Given the description of an element on the screen output the (x, y) to click on. 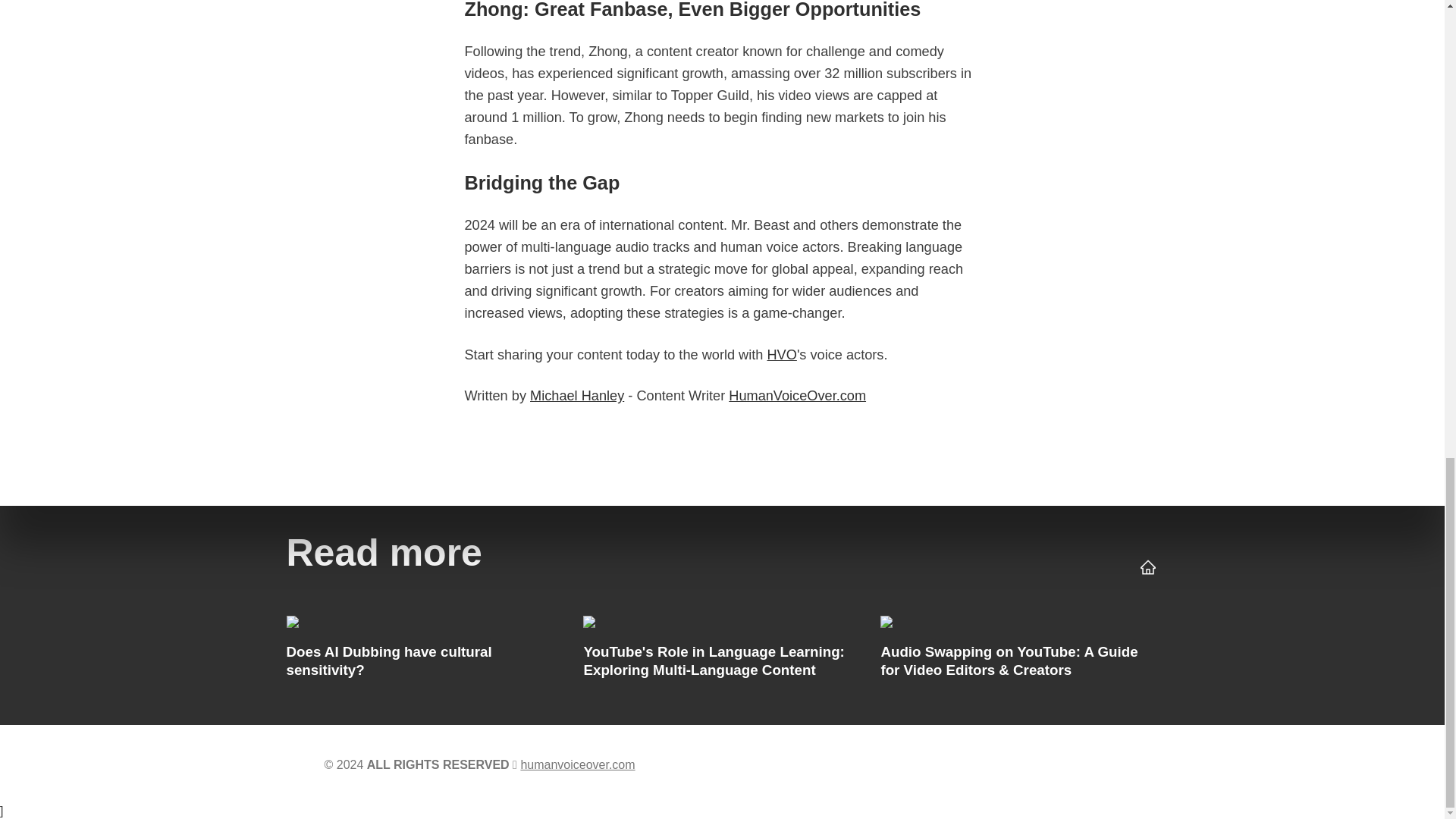
Michael Hanley (576, 395)
HumanVoiceOver.com (797, 395)
HVO (781, 354)
Does AI Dubbing have cultural sensitivity? (425, 651)
